Given the description of an element on the screen output the (x, y) to click on. 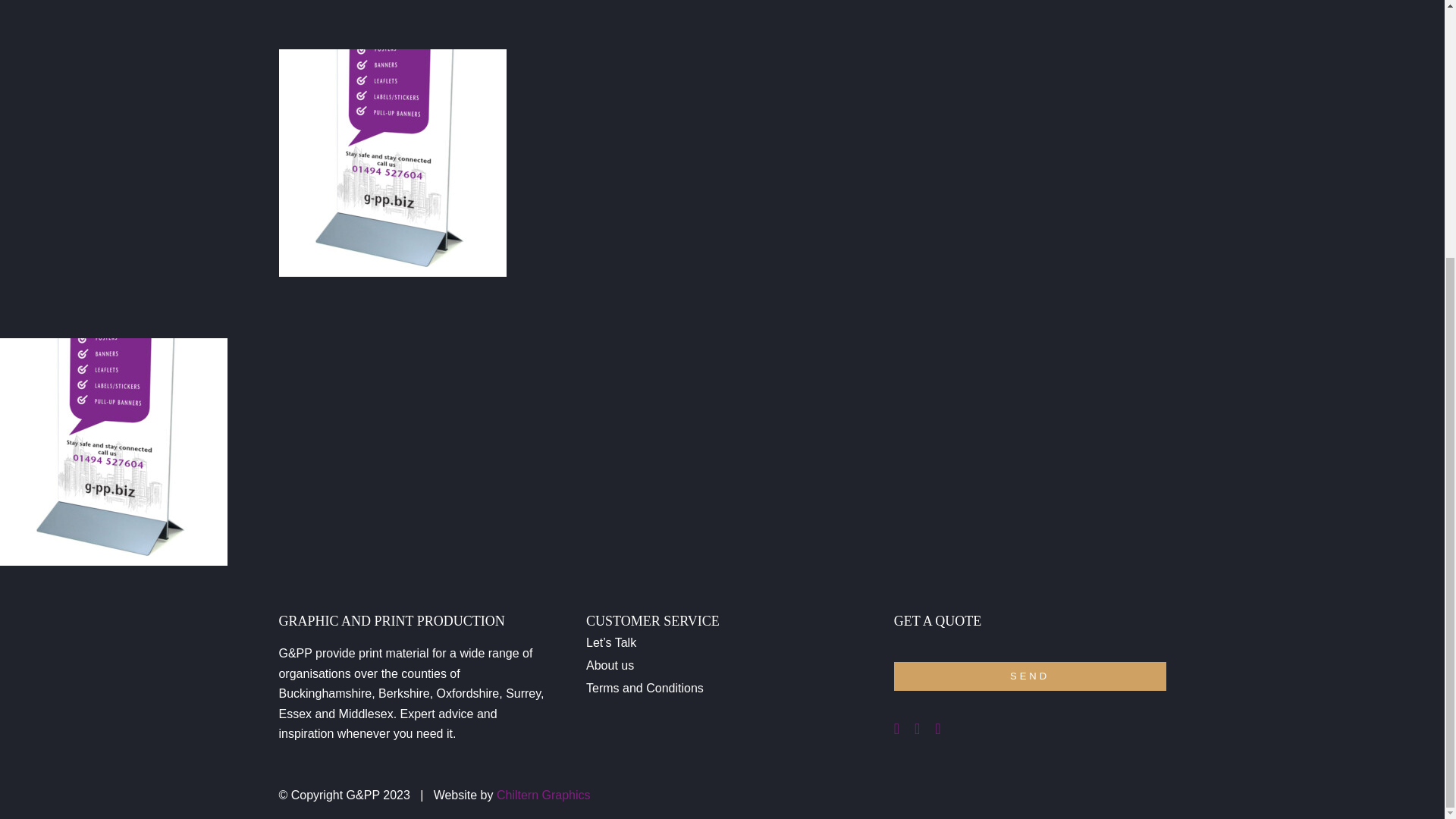
Terms and Conditions (722, 688)
SEND (1029, 676)
About us (722, 665)
Chiltern Graphics (543, 794)
